Given the description of an element on the screen output the (x, y) to click on. 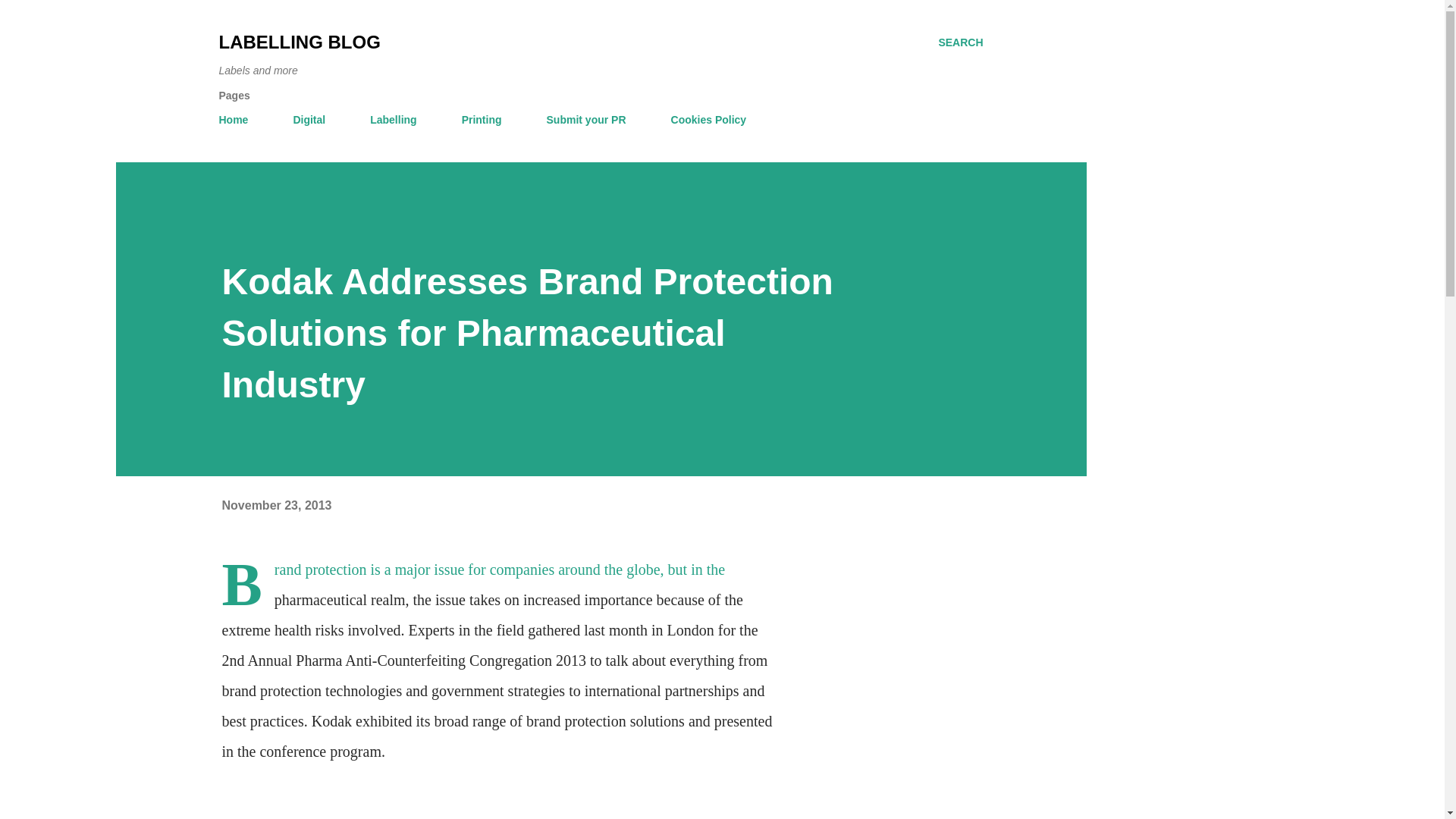
permanent link (276, 504)
Printing (481, 119)
Labelling (393, 119)
SEARCH (959, 42)
LABELLING BLOG (299, 41)
Home (237, 119)
Cookies Policy (708, 119)
Submit your PR (585, 119)
Digital (308, 119)
November 23, 2013 (276, 504)
